Given the description of an element on the screen output the (x, y) to click on. 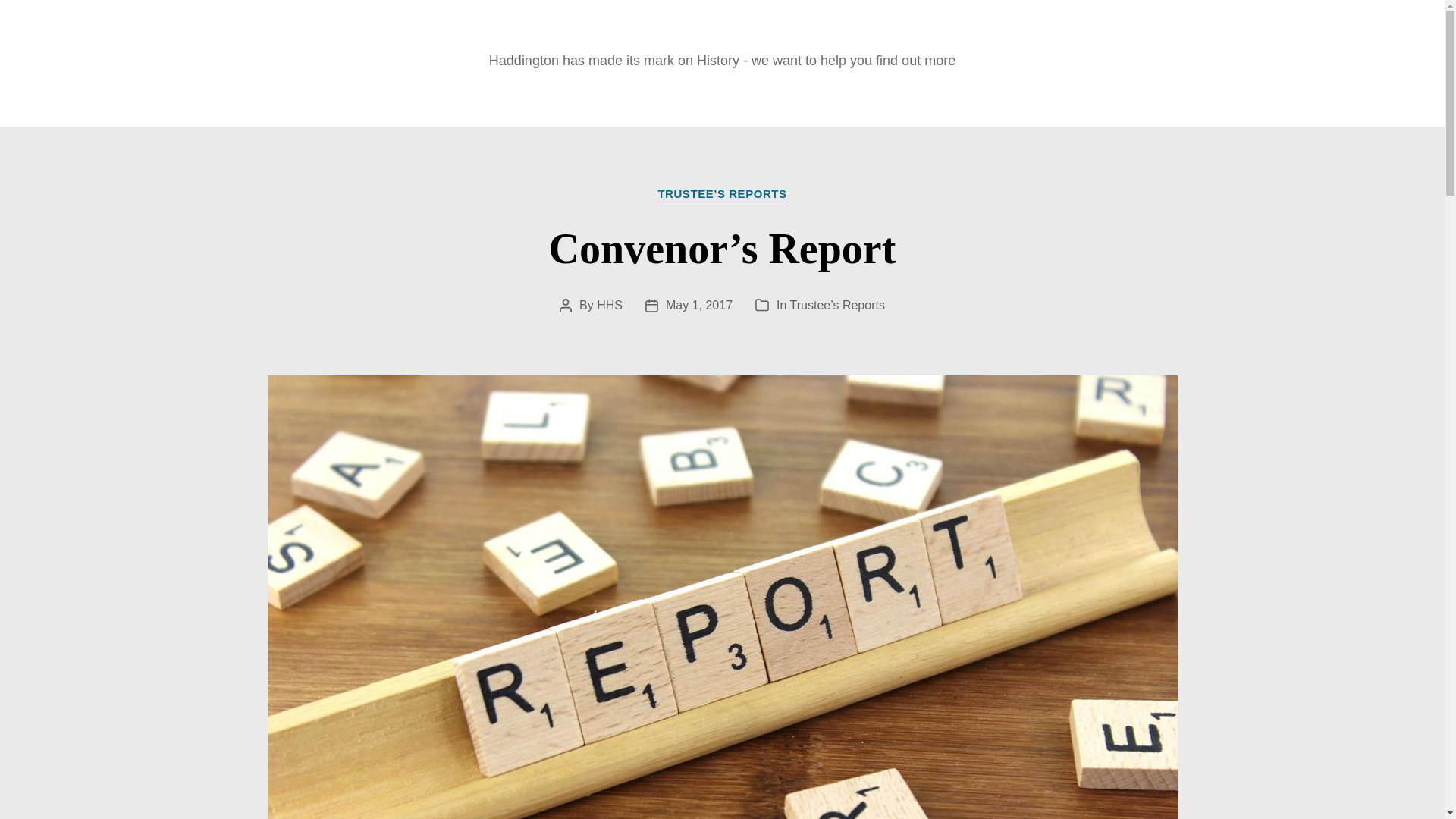
HADDINGTON'S HISTORY SOCIETY (722, 33)
ABOUT US (989, 95)
CURRENT PROJECTS (689, 95)
NEWS (437, 95)
EVENTS (536, 95)
RESOURCES (858, 95)
